Given the description of an element on the screen output the (x, y) to click on. 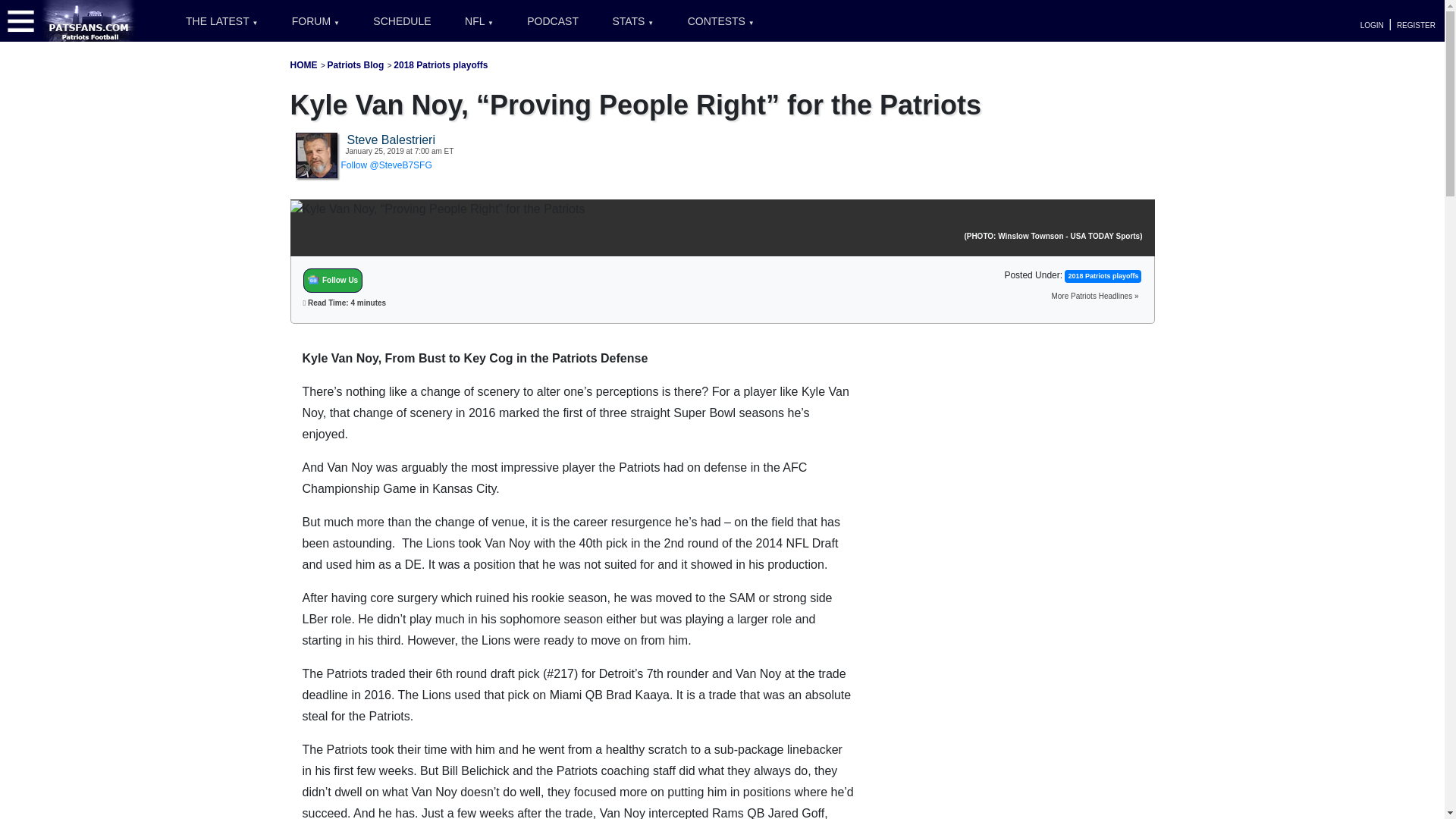
2018 Patriots playoffs (440, 64)
Steve Balestrieri on PatsFans.com (316, 154)
SCHEDULE (401, 21)
New England Patriots at PatsFans.com (303, 64)
PatsFans.com (89, 19)
Patriots Blog (355, 64)
PODCAST (553, 21)
